Given the description of an element on the screen output the (x, y) to click on. 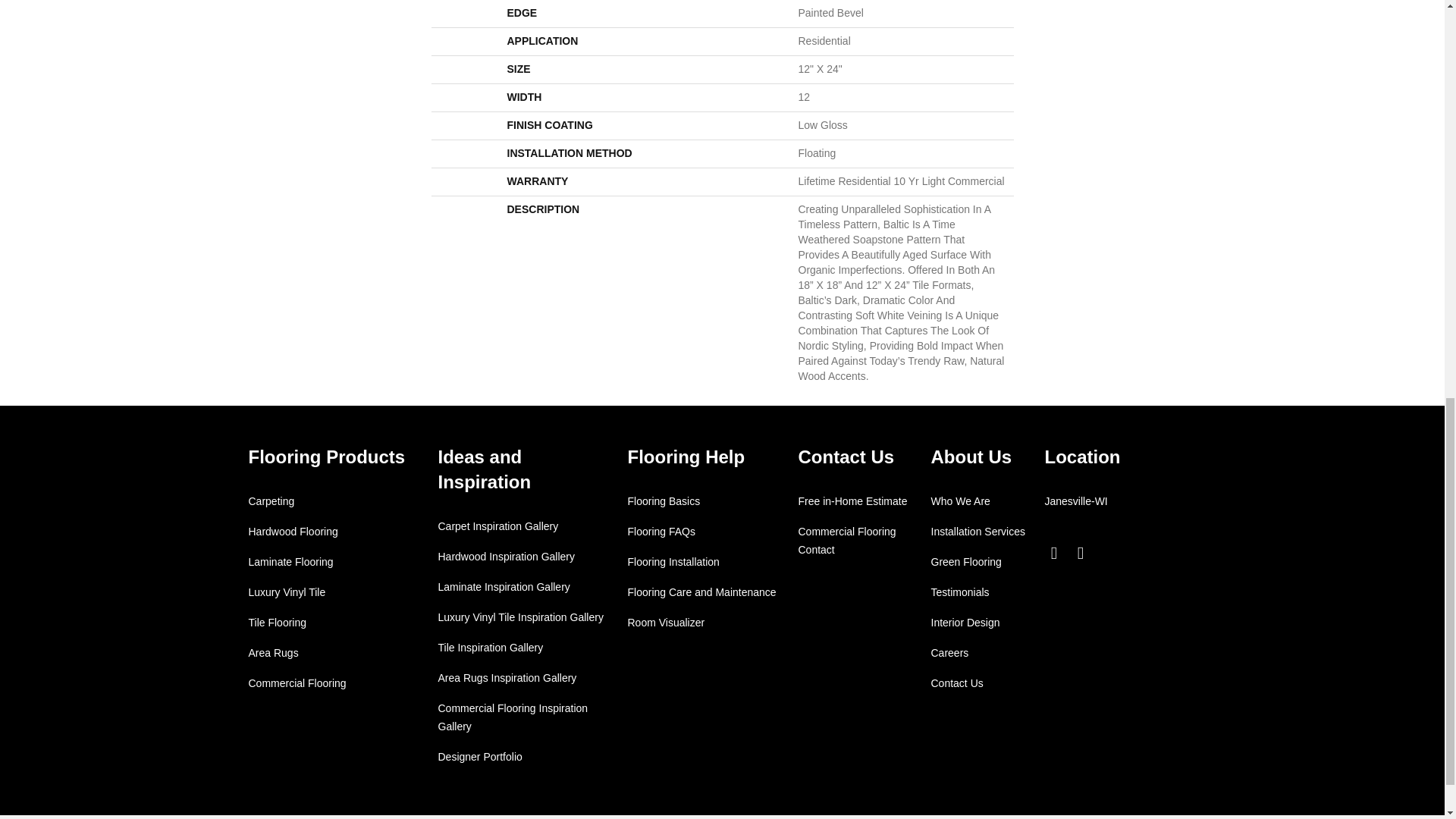
Flooring Products (327, 456)
Location (1083, 456)
About Us (971, 456)
Ideas and Inspiration (484, 469)
Contact Us (845, 456)
Flooring Help (686, 456)
